Given the description of an element on the screen output the (x, y) to click on. 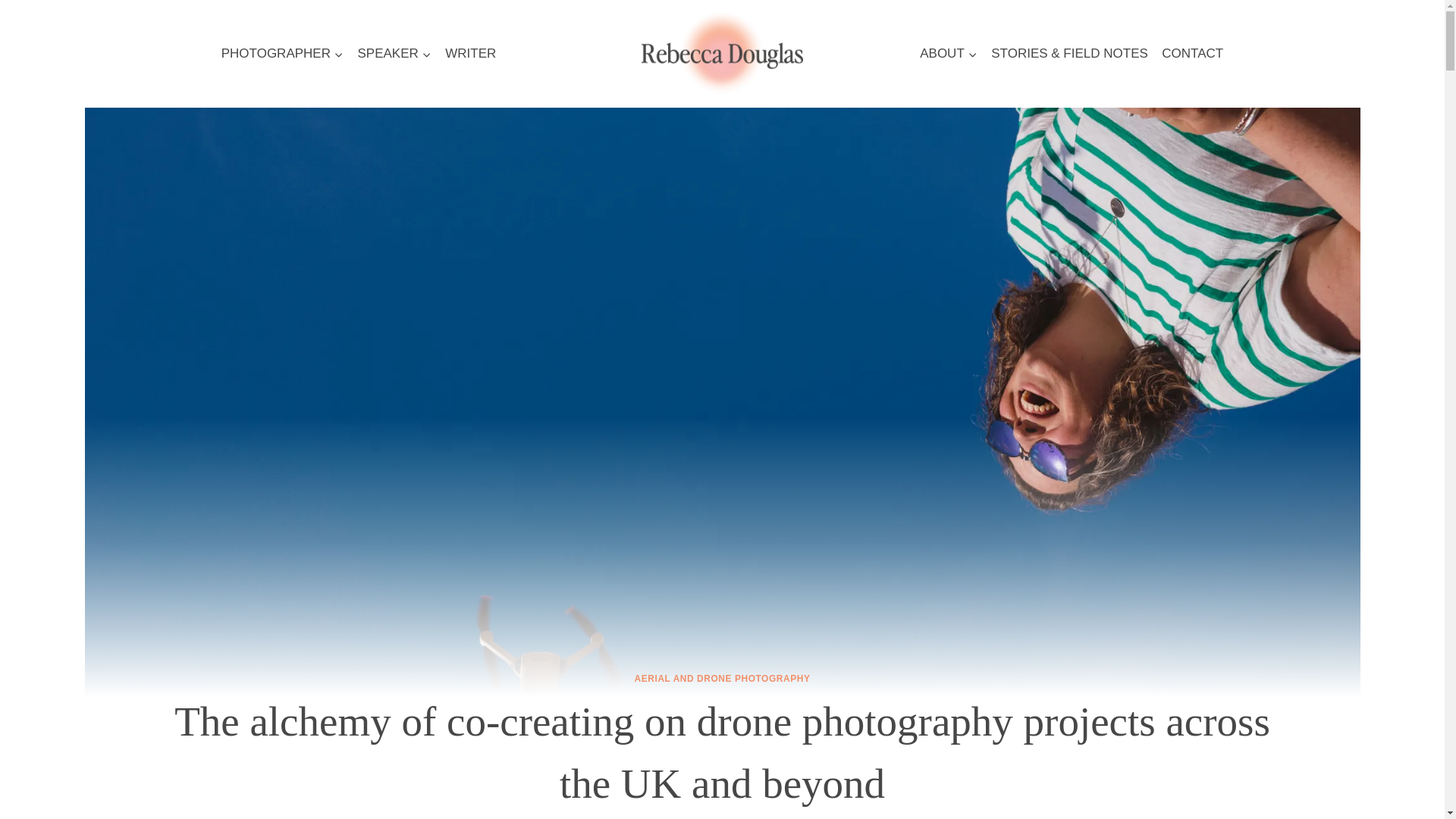
PHOTOGRAPHER (282, 53)
SPEAKER (394, 53)
